Given the description of an element on the screen output the (x, y) to click on. 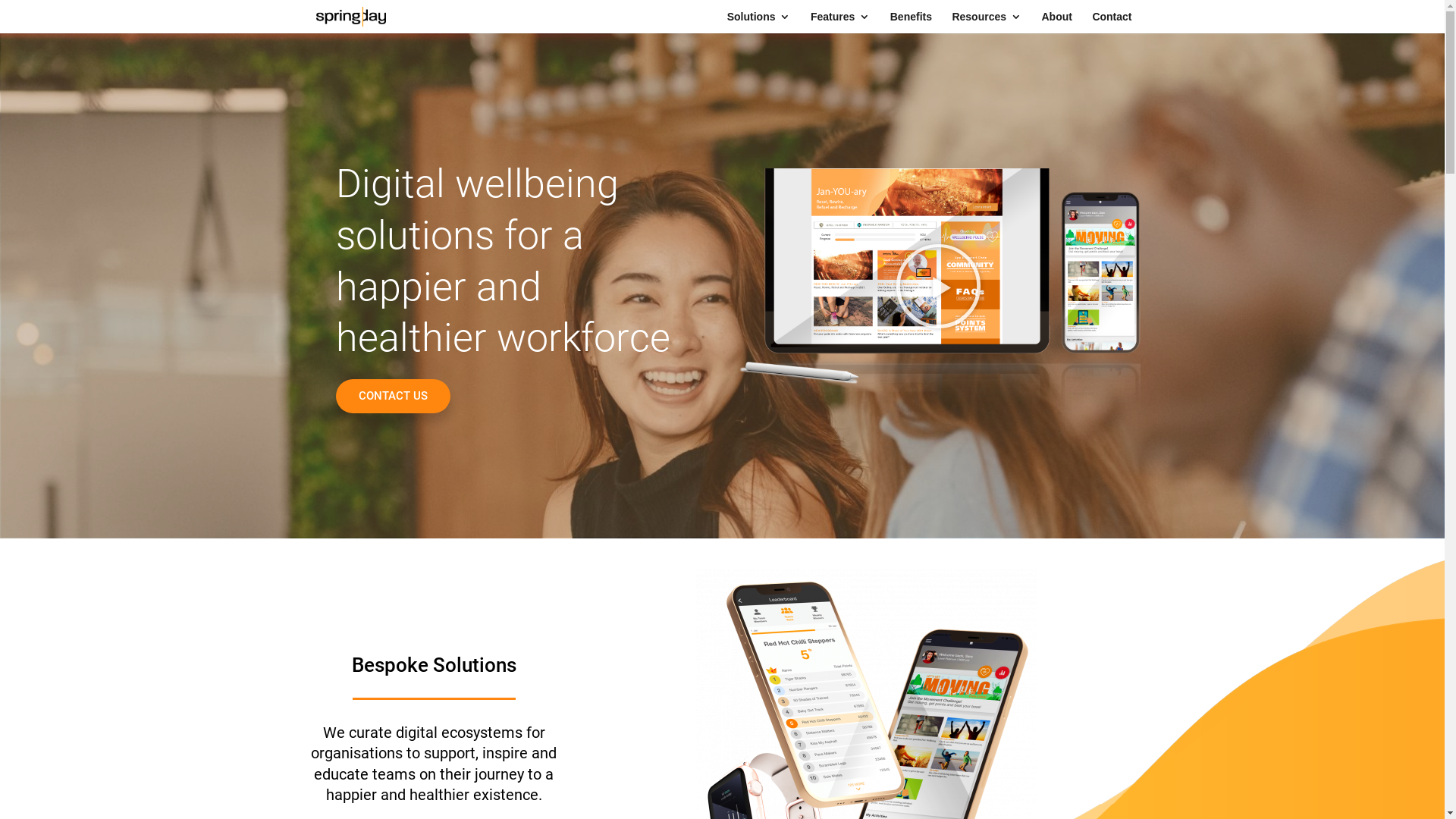
Solutions Element type: text (758, 22)
About Element type: text (1056, 22)
Benefits Element type: text (910, 22)
Features Element type: text (839, 22)
Contact Element type: text (1111, 22)
Resources Element type: text (986, 22)
CONTACT US Element type: text (392, 396)
